Given the description of an element on the screen output the (x, y) to click on. 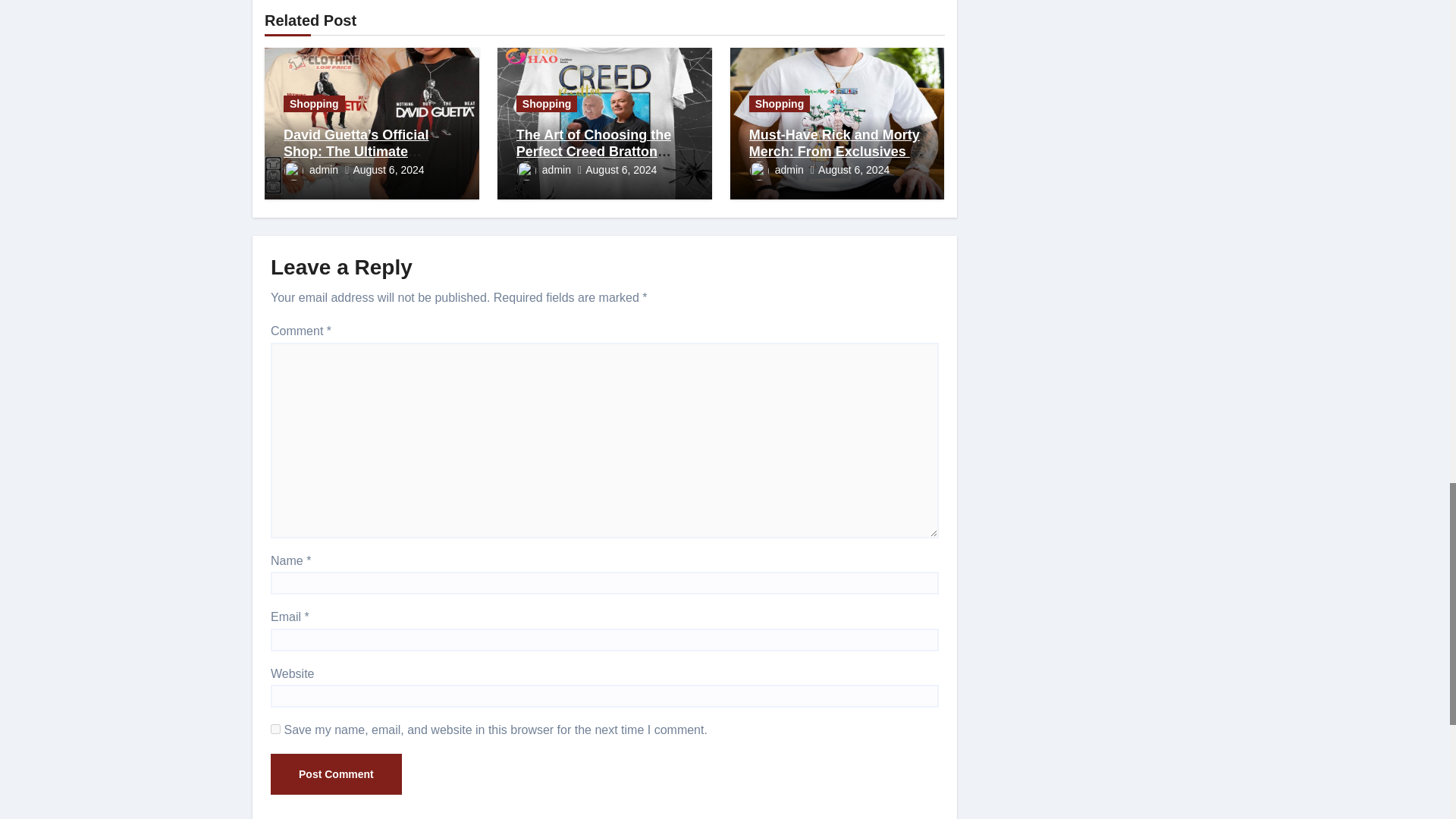
Post Comment (335, 773)
Shopping (314, 103)
yes (275, 728)
